Given the description of an element on the screen output the (x, y) to click on. 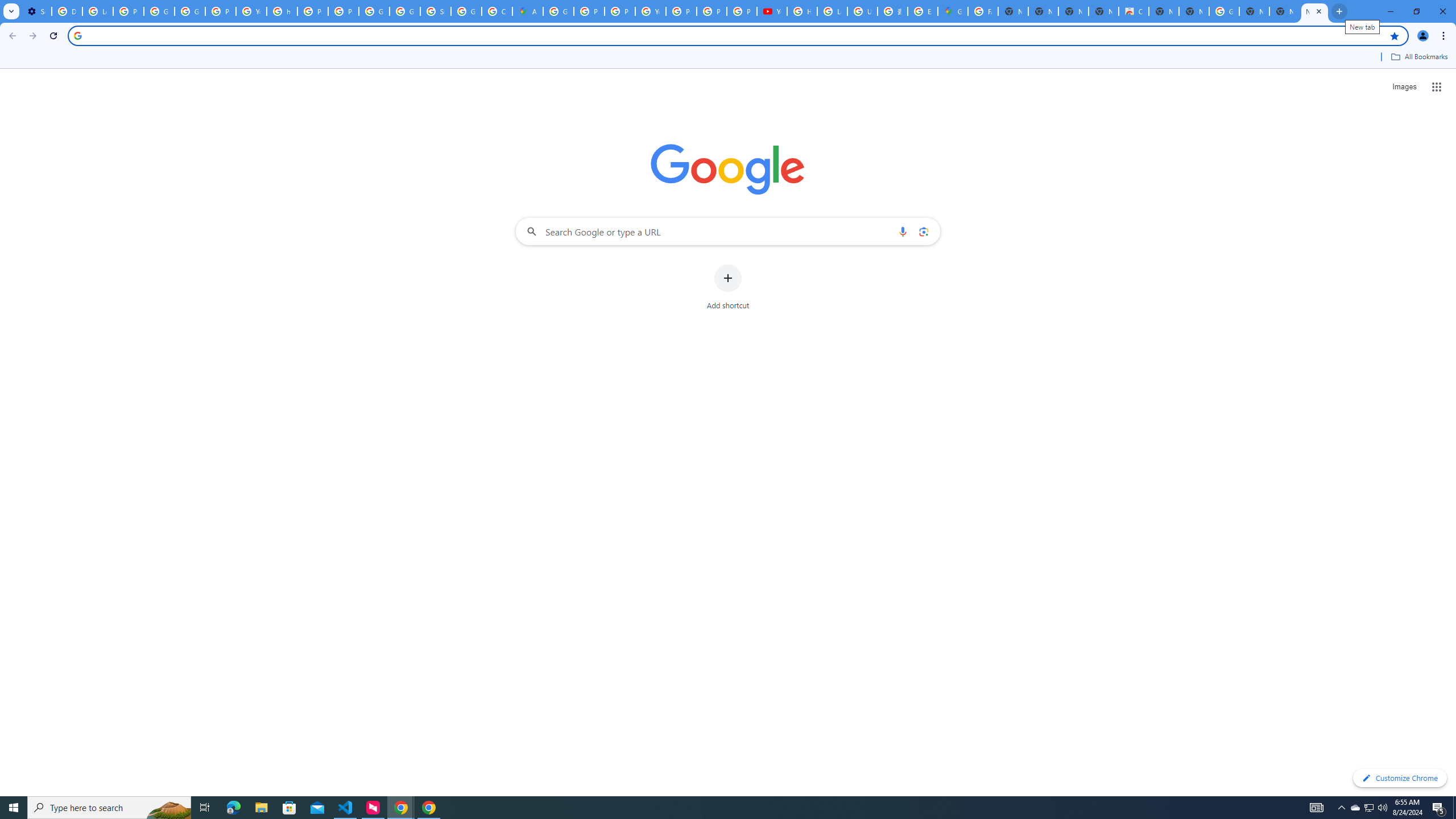
Privacy Help Center - Policies Help (589, 11)
Search Google or type a URL (727, 230)
Google apps (1436, 86)
How Chrome protects your passwords - Google Chrome Help (801, 11)
Search by image (922, 230)
Learn how to find your photos - Google Photos Help (97, 11)
Bookmark this tab (1393, 35)
New Tab (1254, 11)
Address and search bar (735, 35)
Search tabs (10, 11)
New Tab (1193, 11)
Privacy Checkup (741, 11)
Settings - On startup (36, 11)
